Given the description of an element on the screen output the (x, y) to click on. 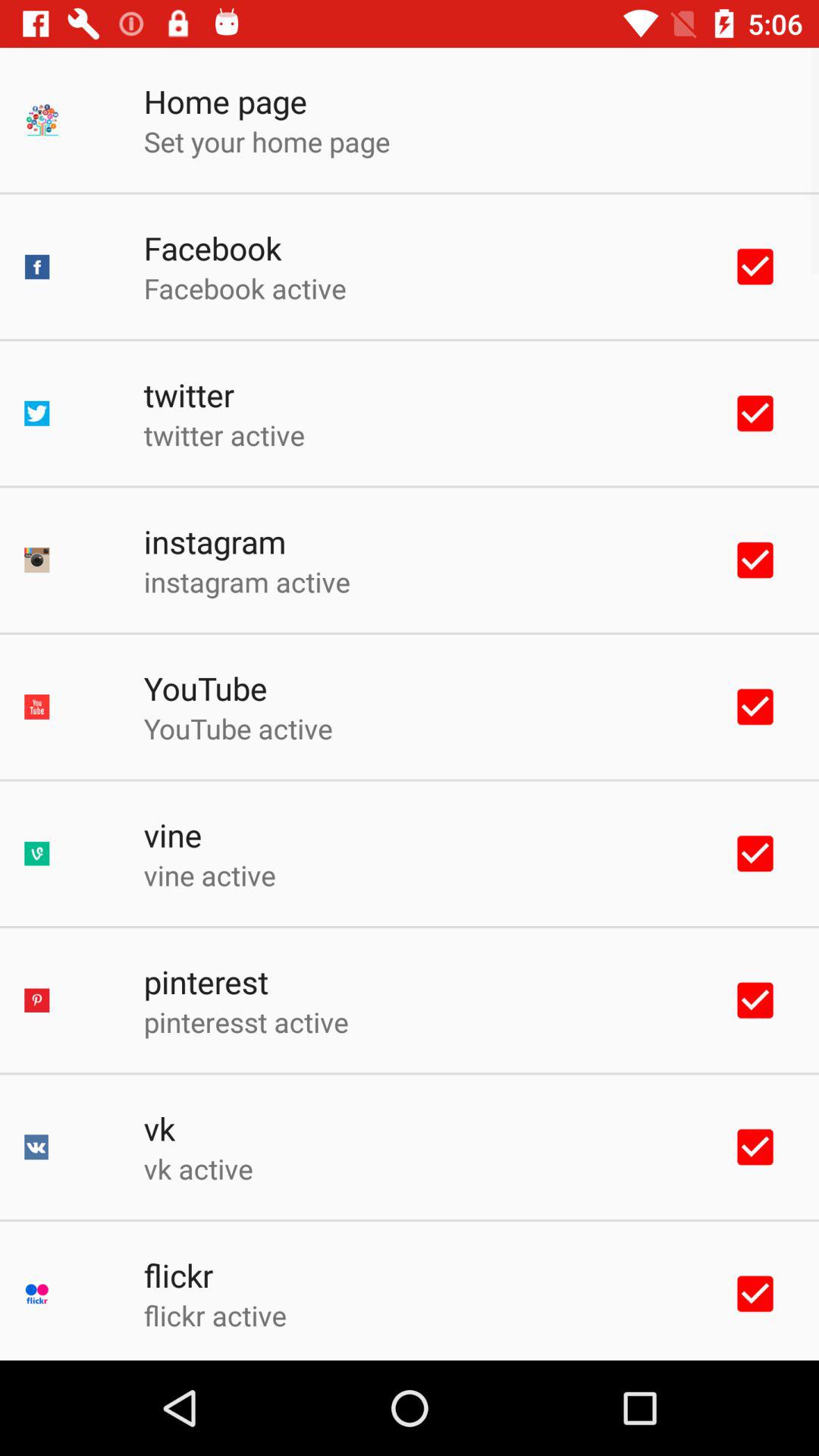
tap vk active (198, 1168)
